Given the description of an element on the screen output the (x, y) to click on. 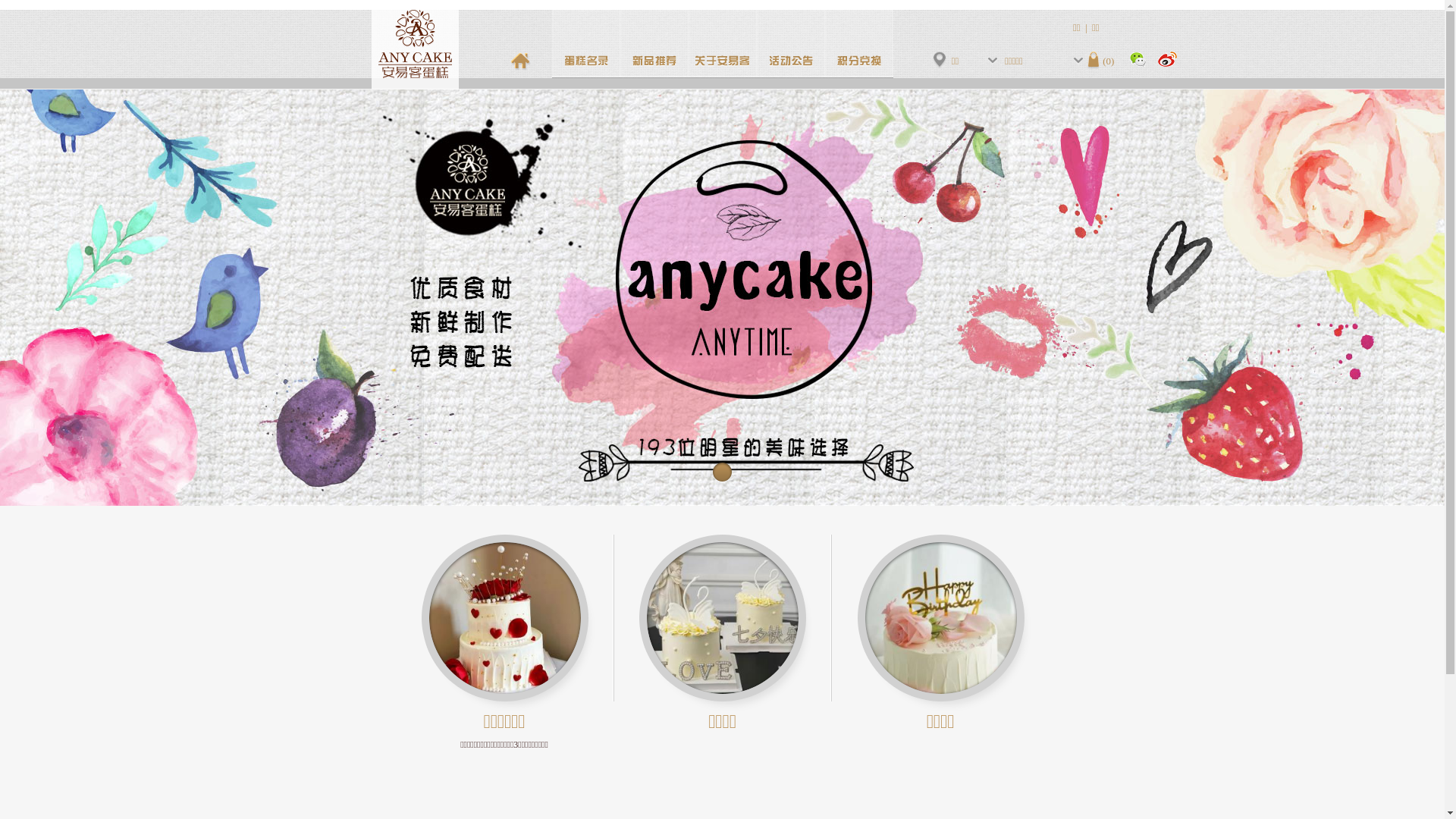
1 Element type: text (721, 472)
(0) Element type: text (1100, 60)
